Given the description of an element on the screen output the (x, y) to click on. 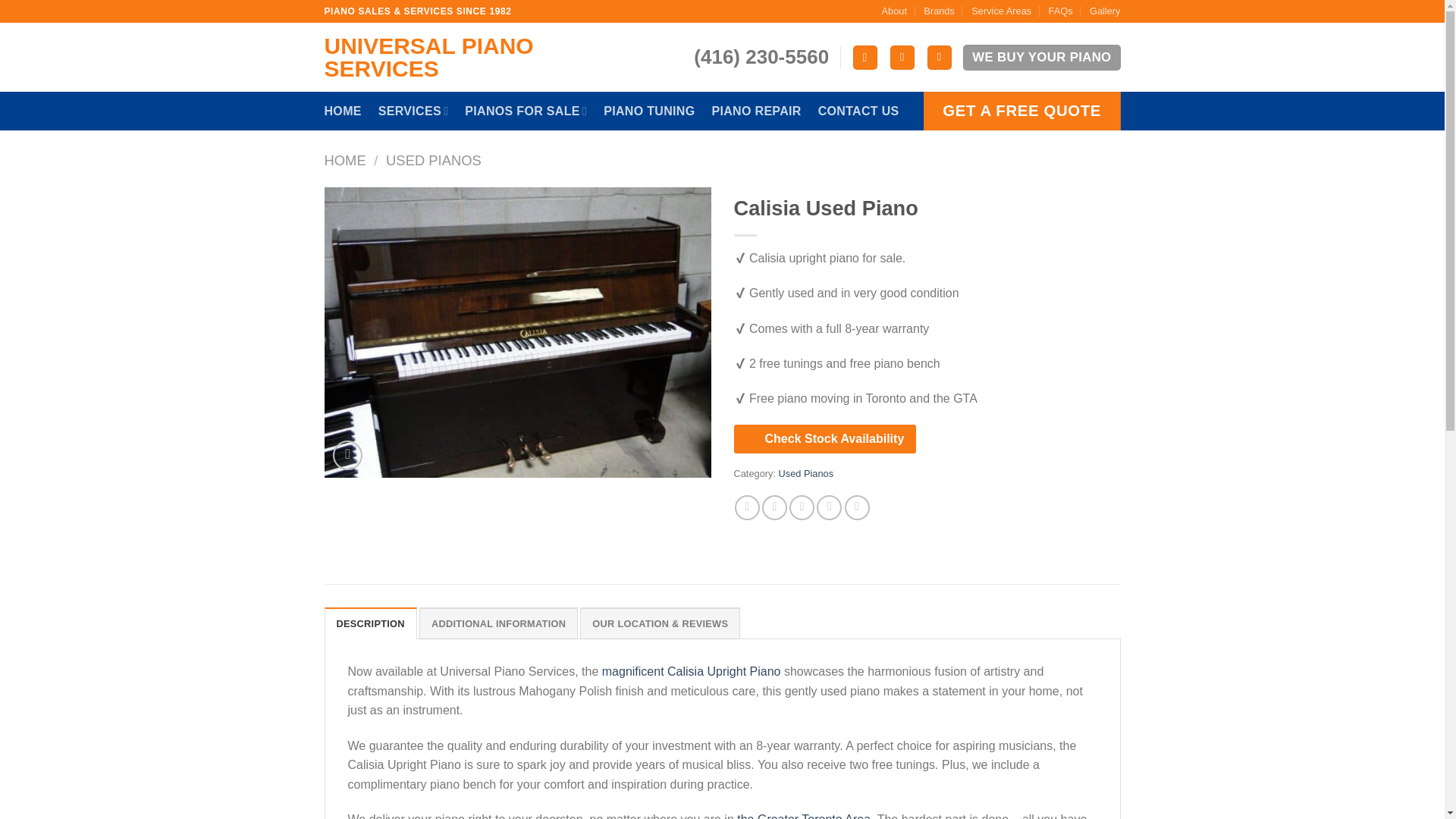
Service Areas (1000, 11)
Pin on Pinterest (828, 507)
Brands (939, 11)
Share on Facebook (747, 507)
Zoom (347, 455)
WE BUY YOUR PIANO (1040, 57)
Email to a Friend (801, 507)
UNIVERSAL PIANO SERVICES (484, 57)
Gallery (1105, 11)
Universal Piano Services - Used Pianos and Piano Services (484, 57)
SERVICES (413, 111)
Share on LinkedIn (856, 507)
Cart (939, 57)
About (892, 11)
FAQs (1060, 11)
